Given the description of an element on the screen output the (x, y) to click on. 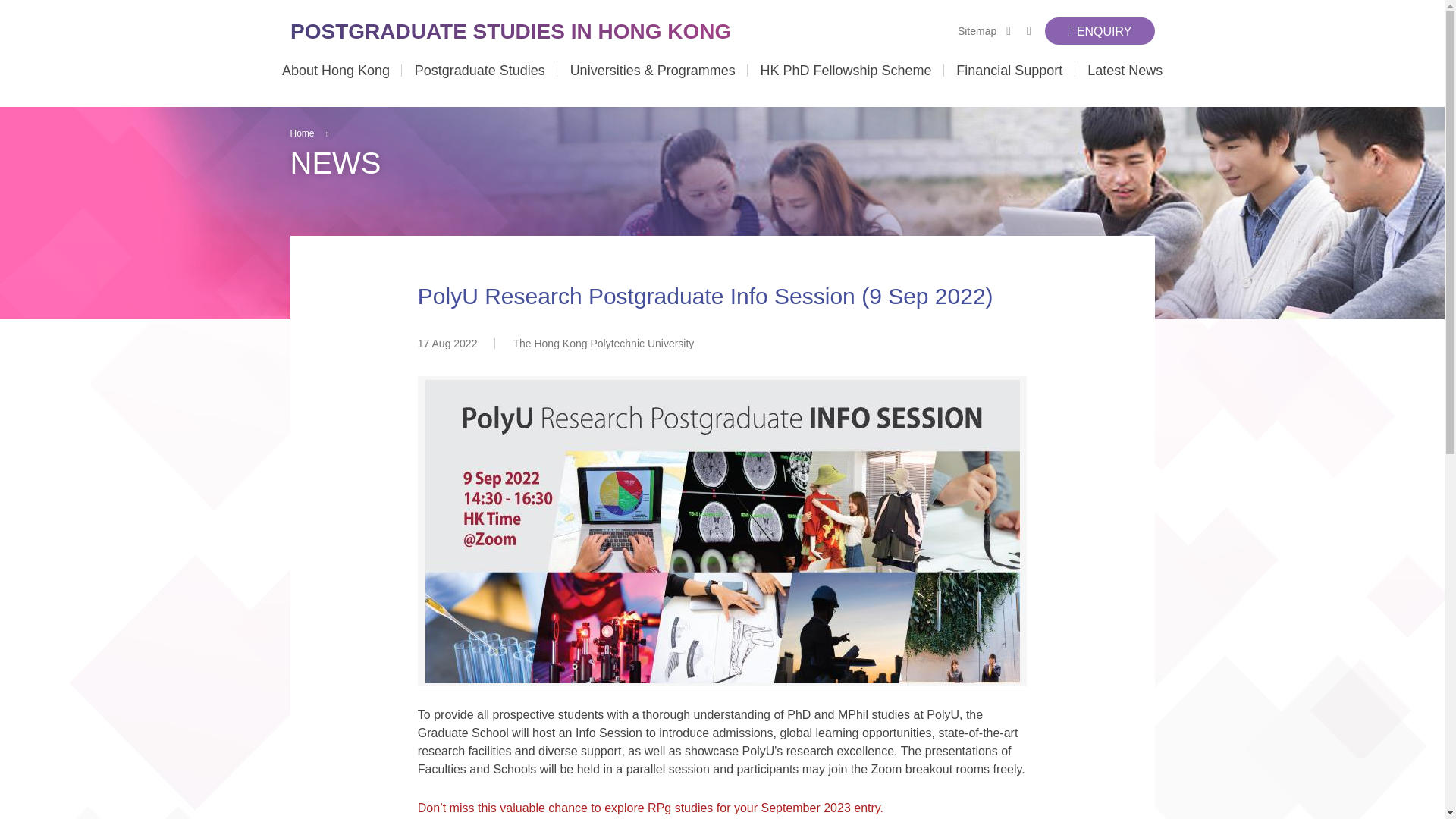
Latest News (1125, 85)
Home (512, 30)
Sitemap (976, 30)
HK PhD Fellowship Scheme (845, 85)
Home (301, 132)
Financial Support (1009, 85)
Postgraduate Studies (479, 85)
About Hong Kong (336, 85)
ENQUIRY (1099, 31)
